Given the description of an element on the screen output the (x, y) to click on. 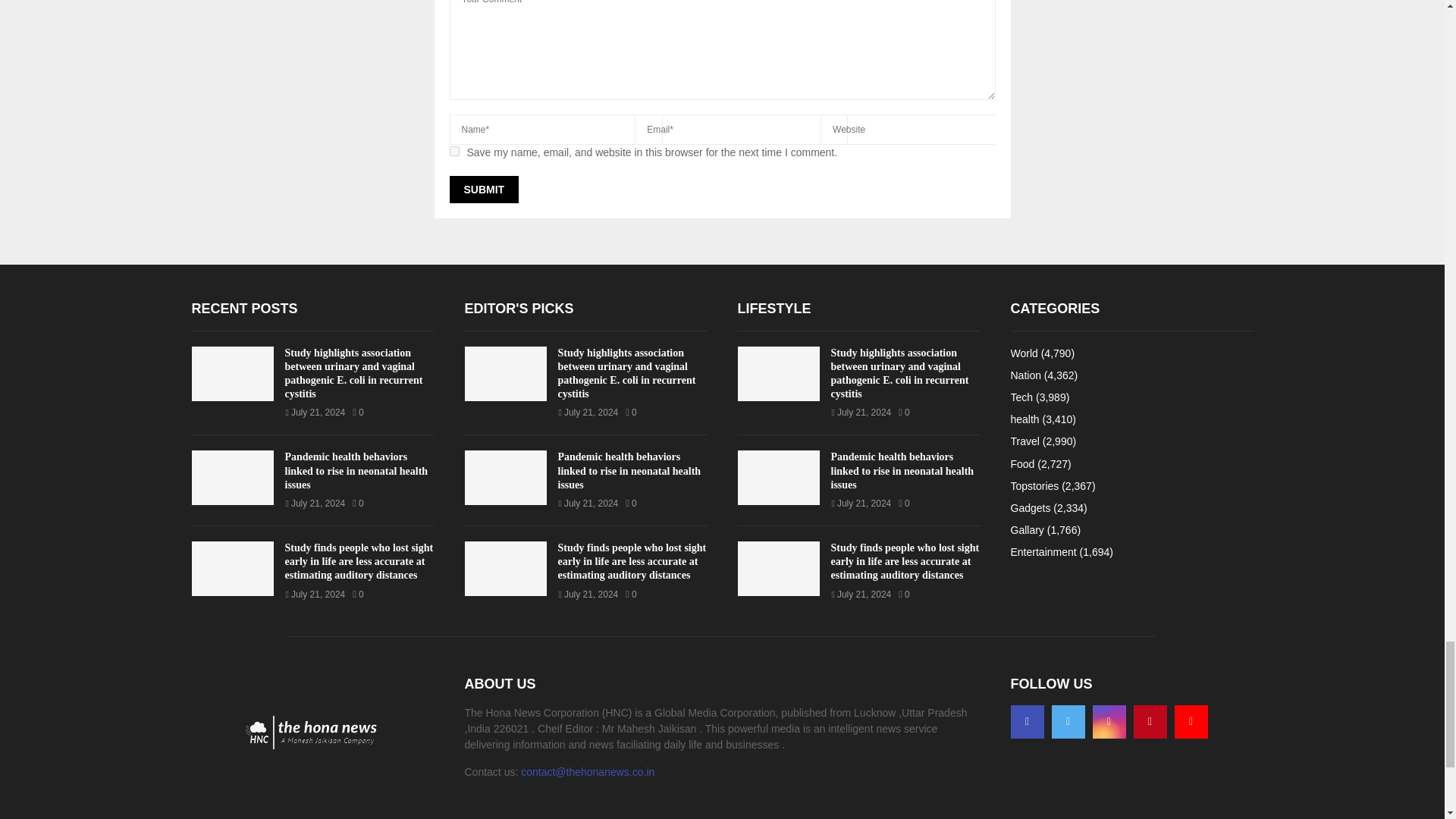
Submit (483, 189)
yes (453, 151)
